Given the description of an element on the screen output the (x, y) to click on. 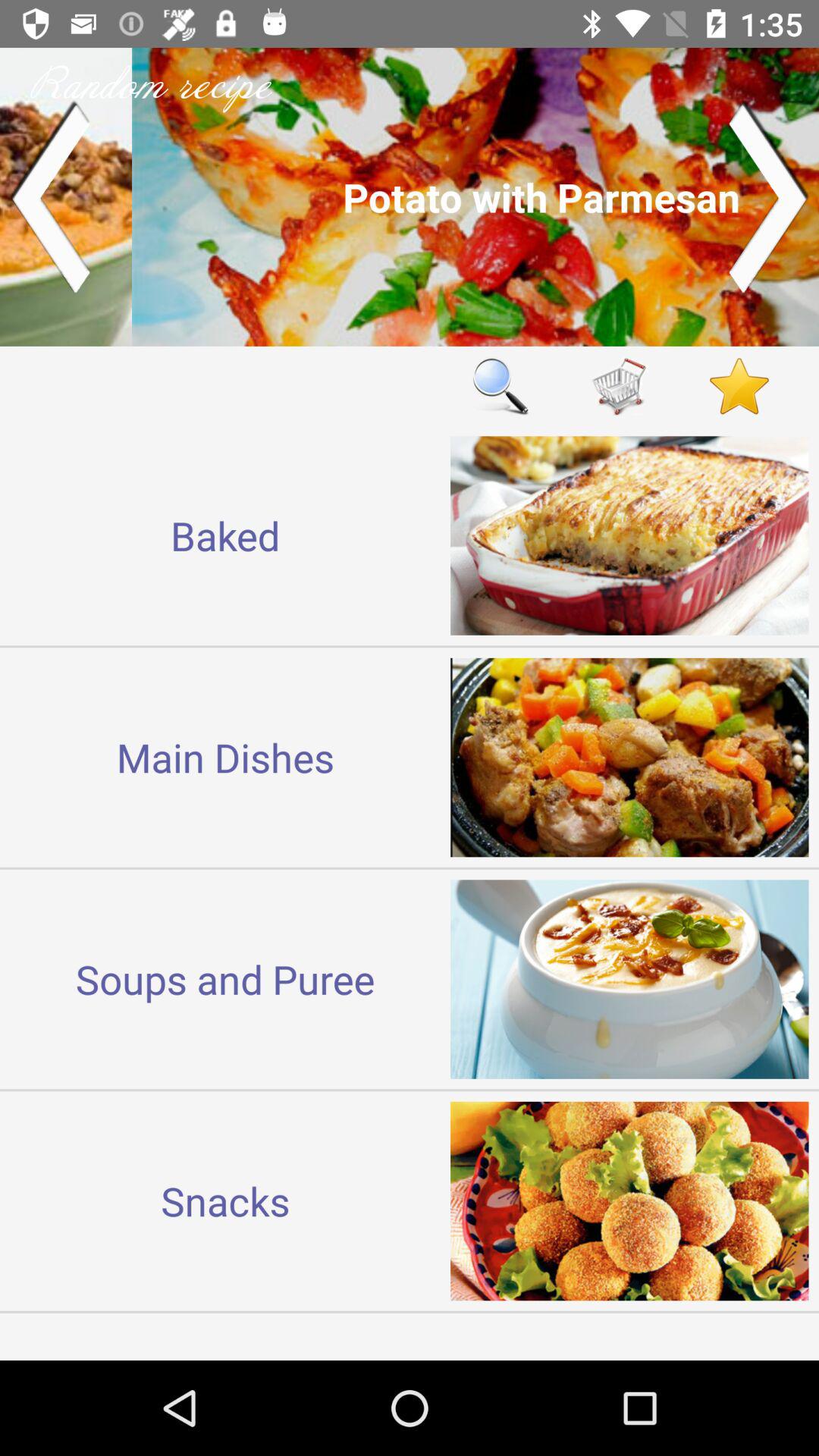
turn off the icon above the main dishes (225, 534)
